Given the description of an element on the screen output the (x, y) to click on. 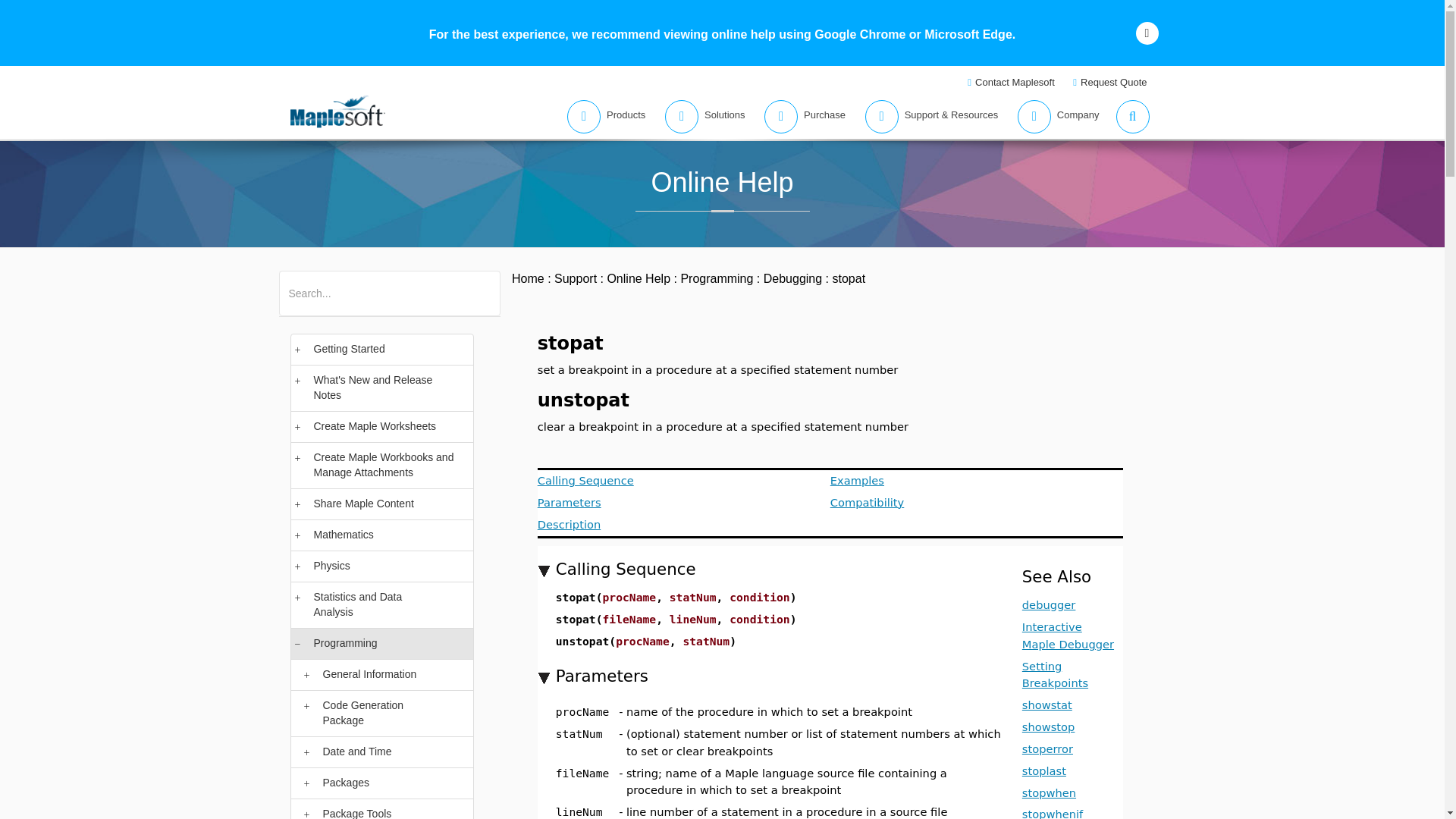
Request Quote (1112, 81)
Maple (367, 284)
All (294, 284)
Solutions (699, 116)
Contact Maplesoft (1012, 81)
Products (601, 116)
MapleSim (415, 284)
